Given the description of an element on the screen output the (x, y) to click on. 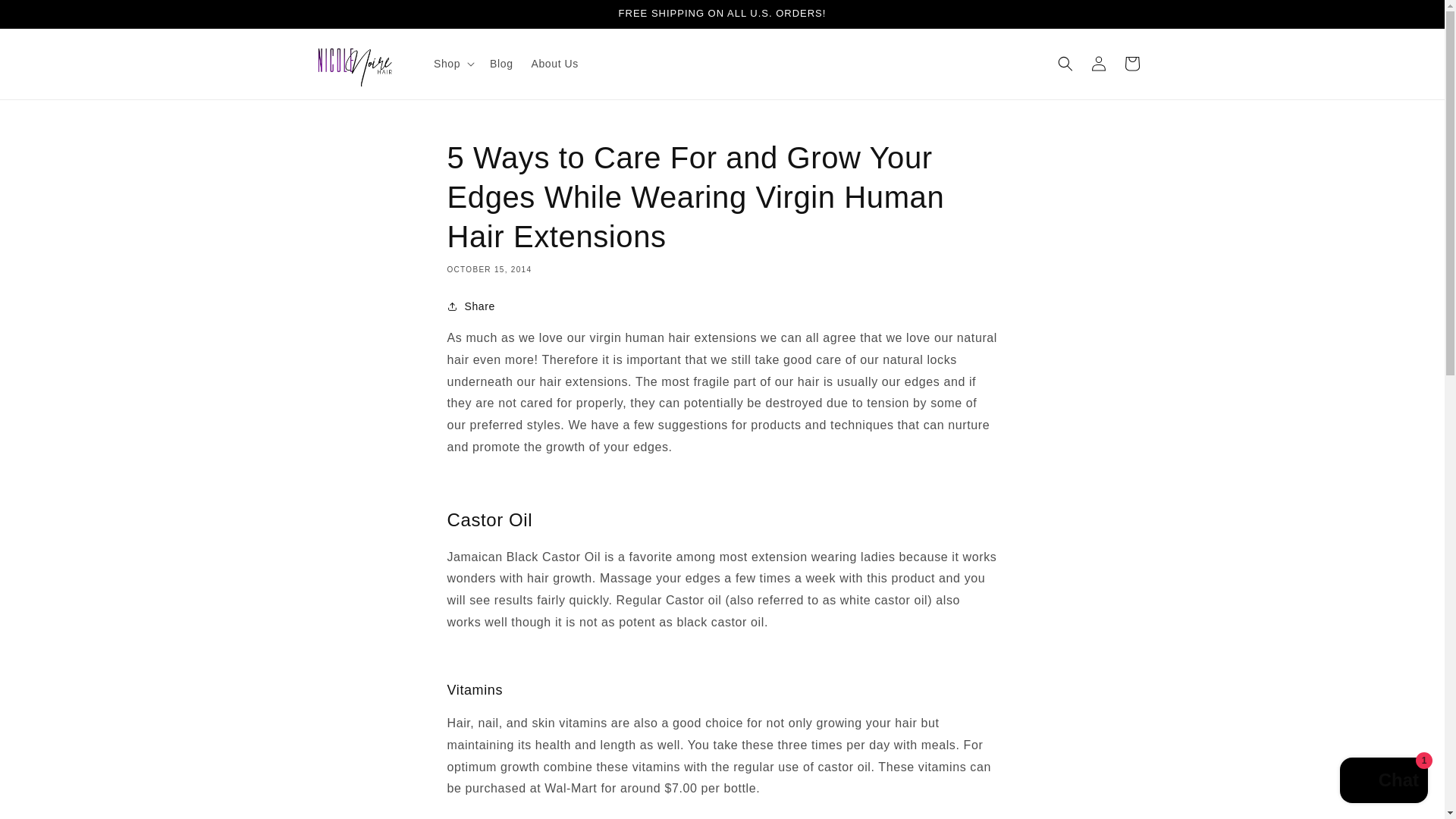
Skip to content (45, 17)
About Us (555, 63)
Cart (1131, 63)
Shopify online store chat (1383, 781)
Blog (500, 63)
Log in (1098, 63)
